Given the description of an element on the screen output the (x, y) to click on. 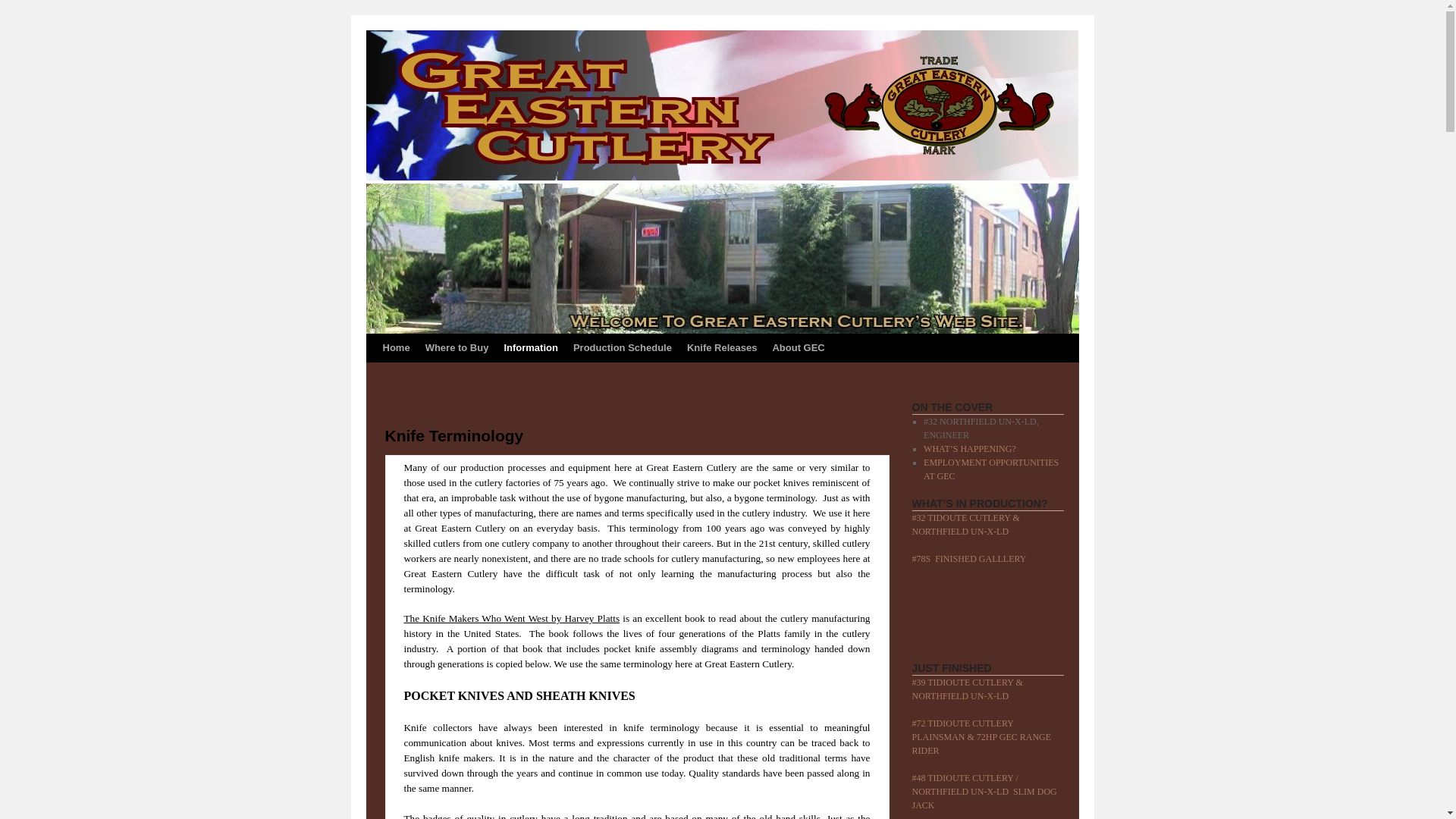
Production Schedule (622, 347)
Information (531, 347)
Knife Releases (722, 347)
Home (395, 347)
Where to Buy (456, 347)
GEC Banner (721, 105)
